Given the description of an element on the screen output the (x, y) to click on. 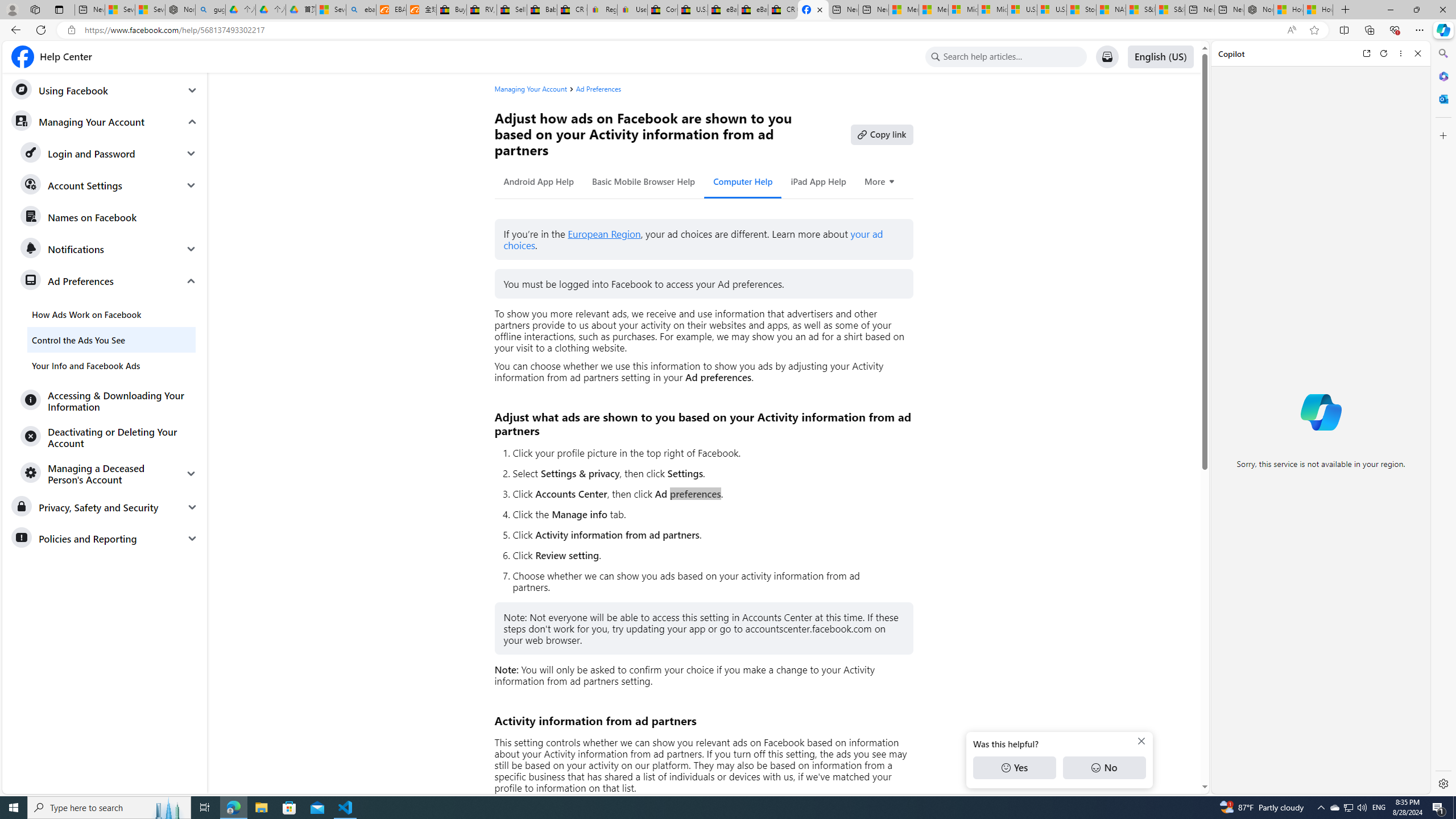
How Ads Work on Facebook (111, 313)
Managing Your Account (104, 121)
Accessing & Downloading Your Information (109, 400)
S&P 500, Nasdaq end lower, weighed by Nvidia dip | Watch (1169, 9)
Your Info and Facebook Ads (111, 365)
Using Facebook (104, 90)
Search (1442, 53)
Dismiss (1141, 741)
Click Review setting. (707, 555)
Register: Create a personal eBay account (601, 9)
